Given the description of an element on the screen output the (x, y) to click on. 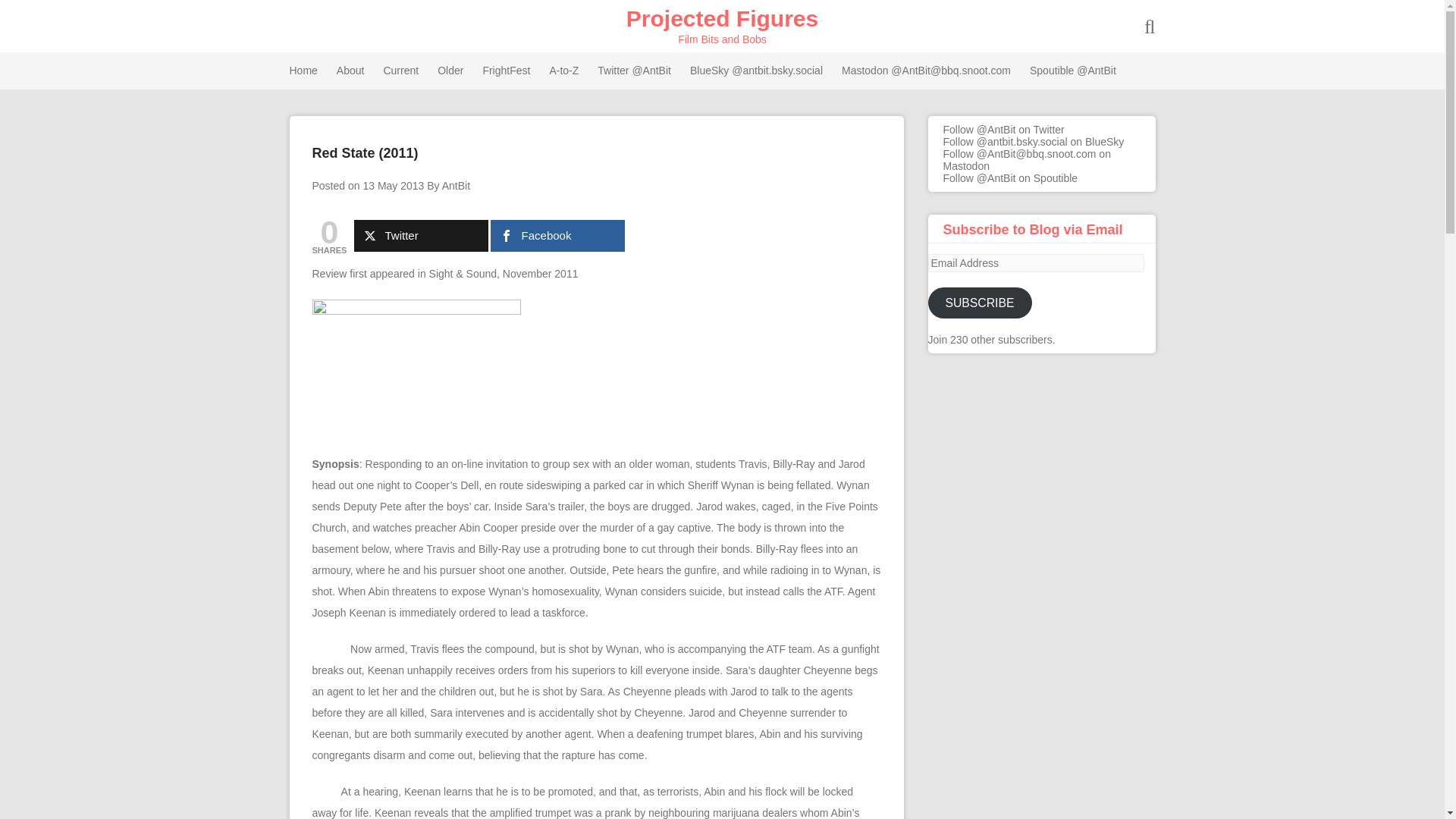
Current (400, 70)
Film Bits and Bobs (722, 18)
Projected Figures (722, 18)
FrightFest (505, 70)
